Given the description of an element on the screen output the (x, y) to click on. 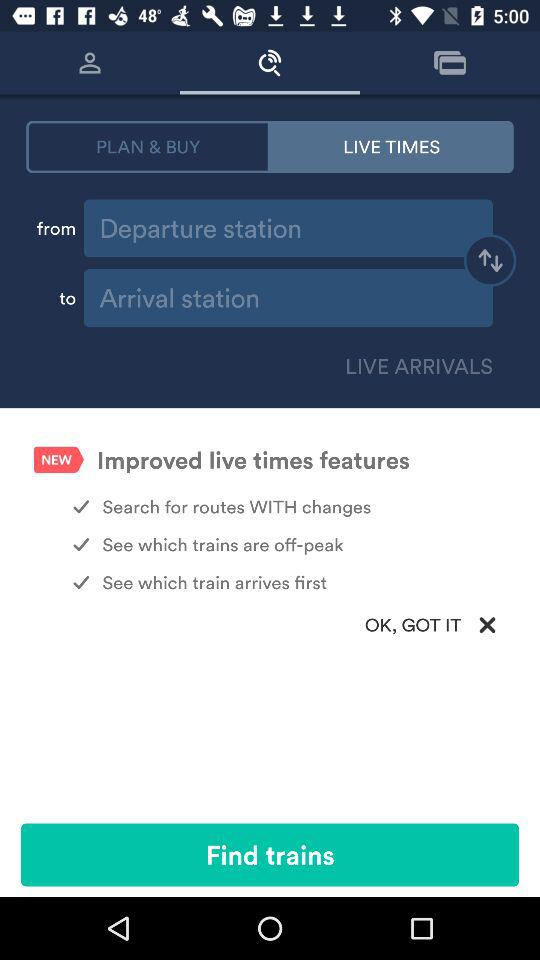
switch destination and departure (489, 263)
